Given the description of an element on the screen output the (x, y) to click on. 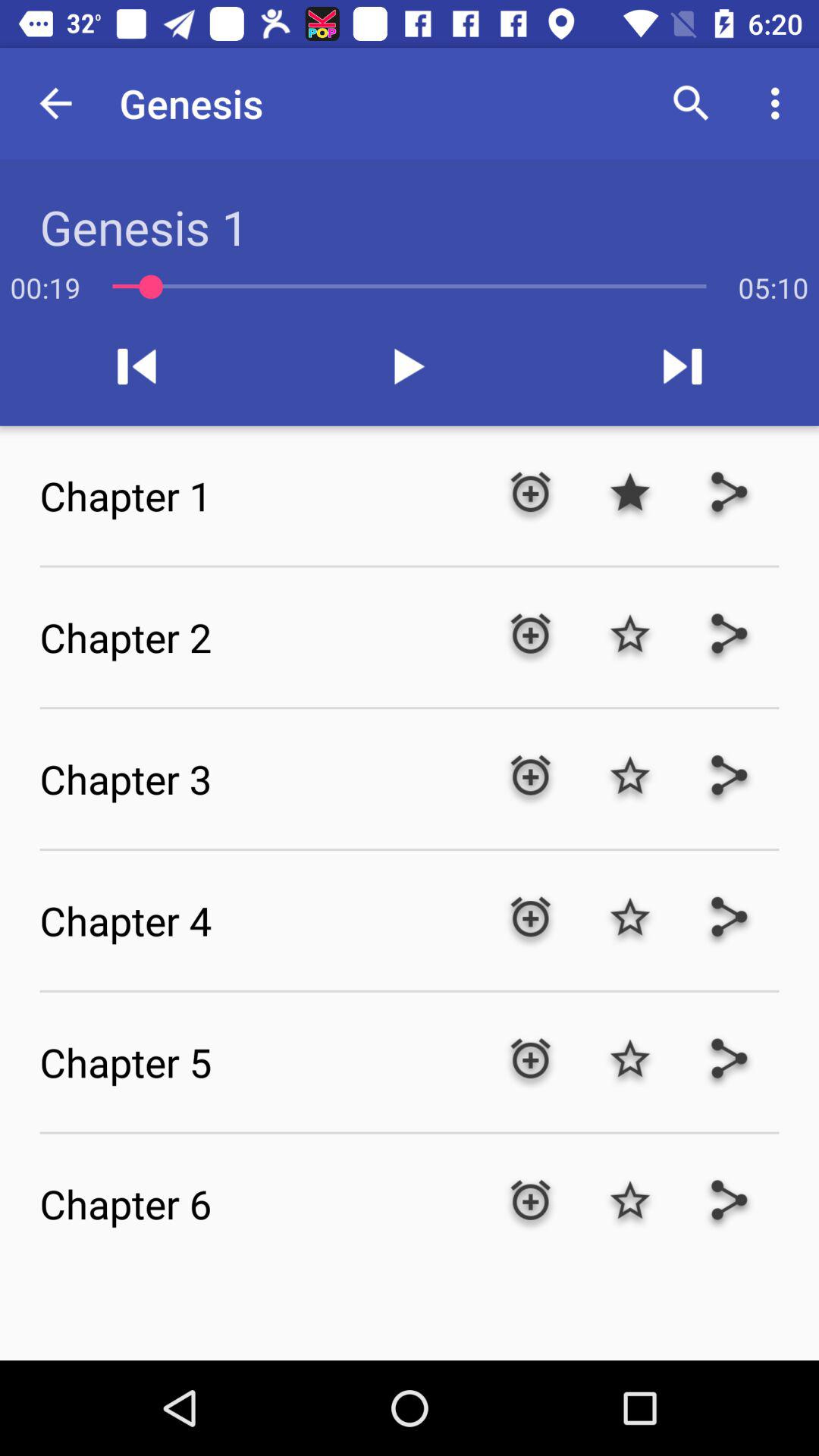
turn off chapter 2 (259, 636)
